Given the description of an element on the screen output the (x, y) to click on. 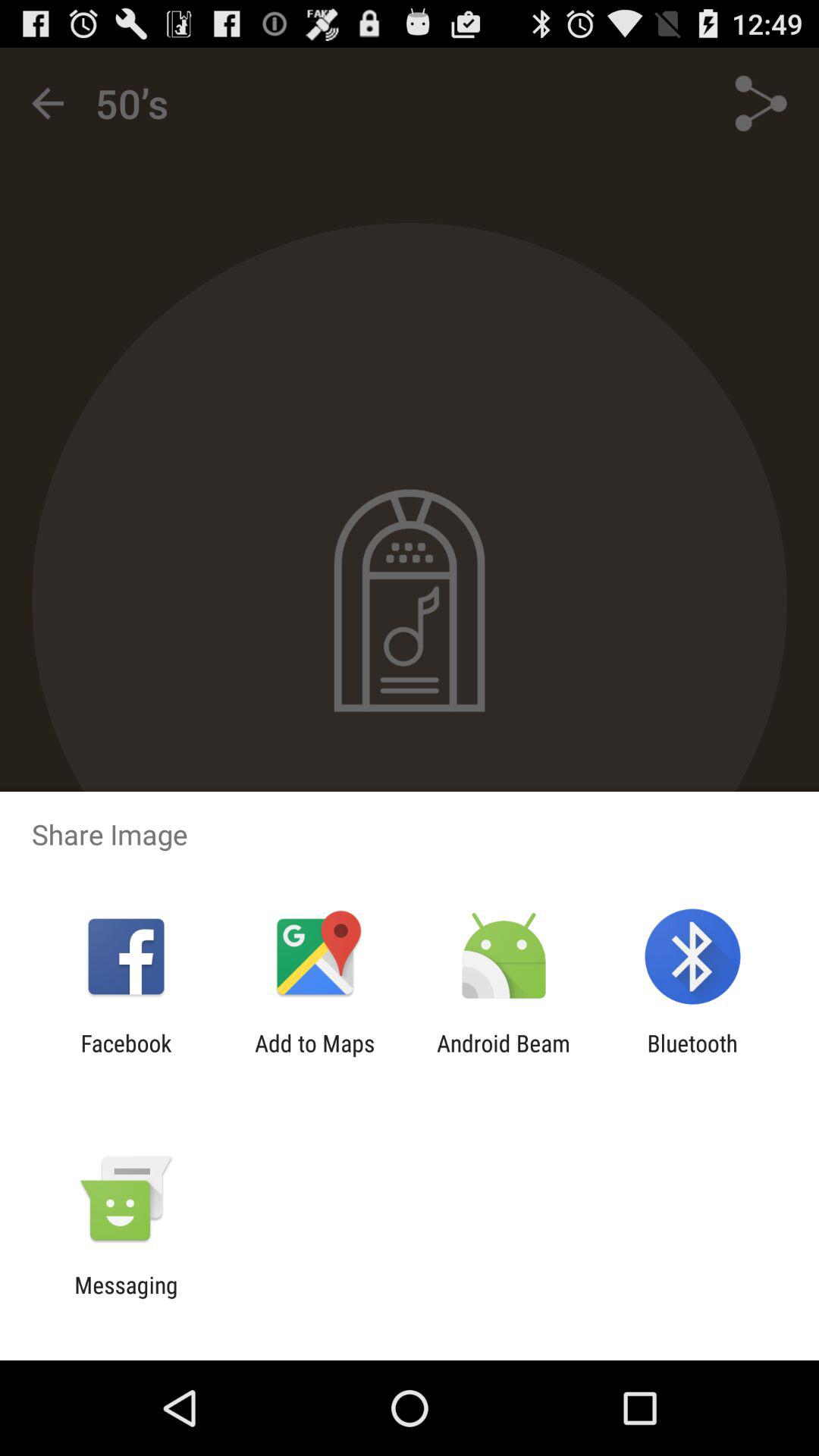
launch the item next to add to maps (125, 1056)
